Given the description of an element on the screen output the (x, y) to click on. 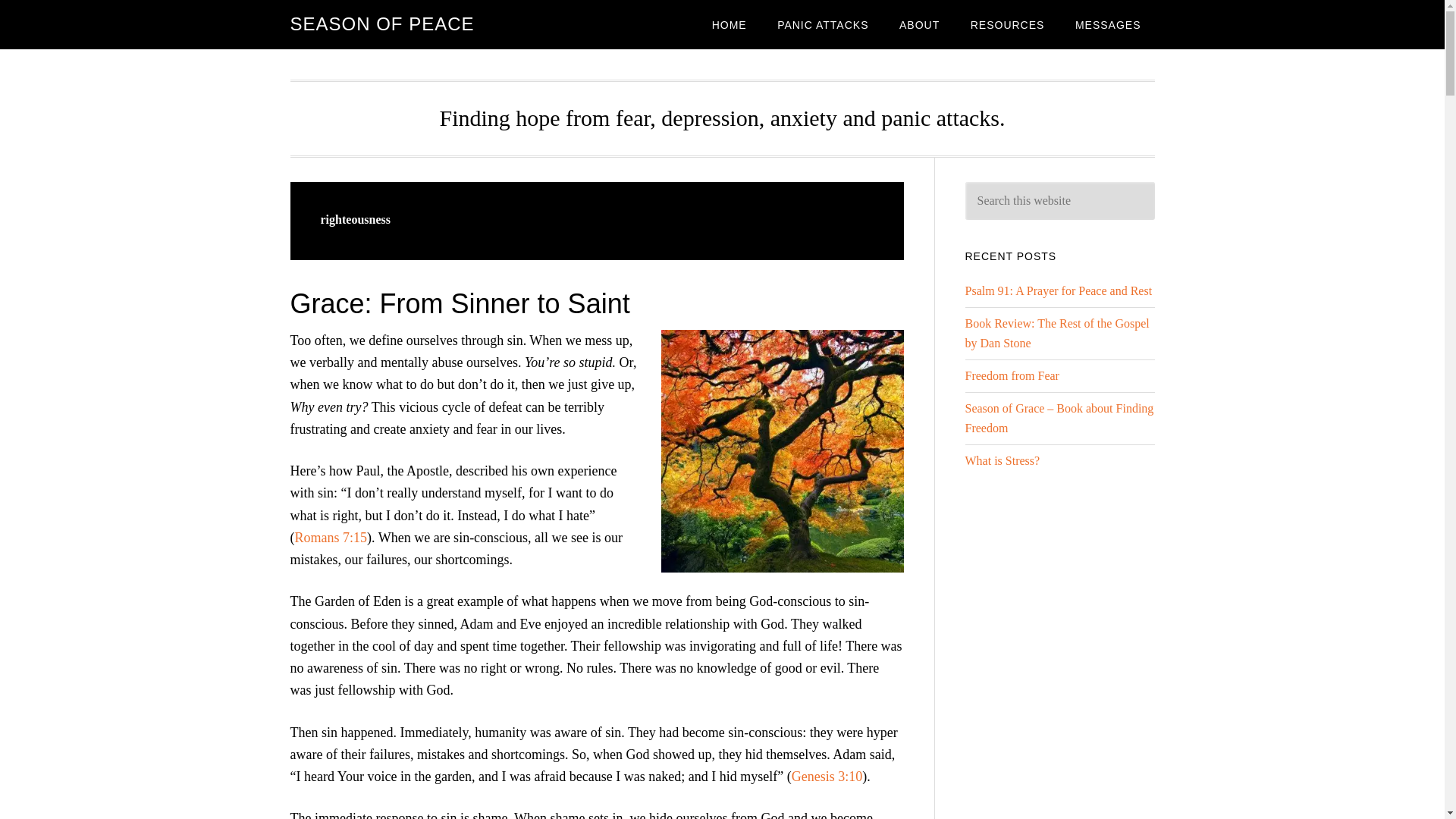
RESOURCES (1007, 24)
HOME (729, 24)
Romans 7:15 (330, 537)
PANIC ATTACKS (822, 24)
Genesis 3:10 (827, 776)
SEASON OF PEACE (381, 23)
MESSAGES (1107, 24)
ABOUT (919, 24)
Grace: From Sinner to Saint (782, 451)
Grace: From Sinner to Saint (458, 303)
